Given the description of an element on the screen output the (x, y) to click on. 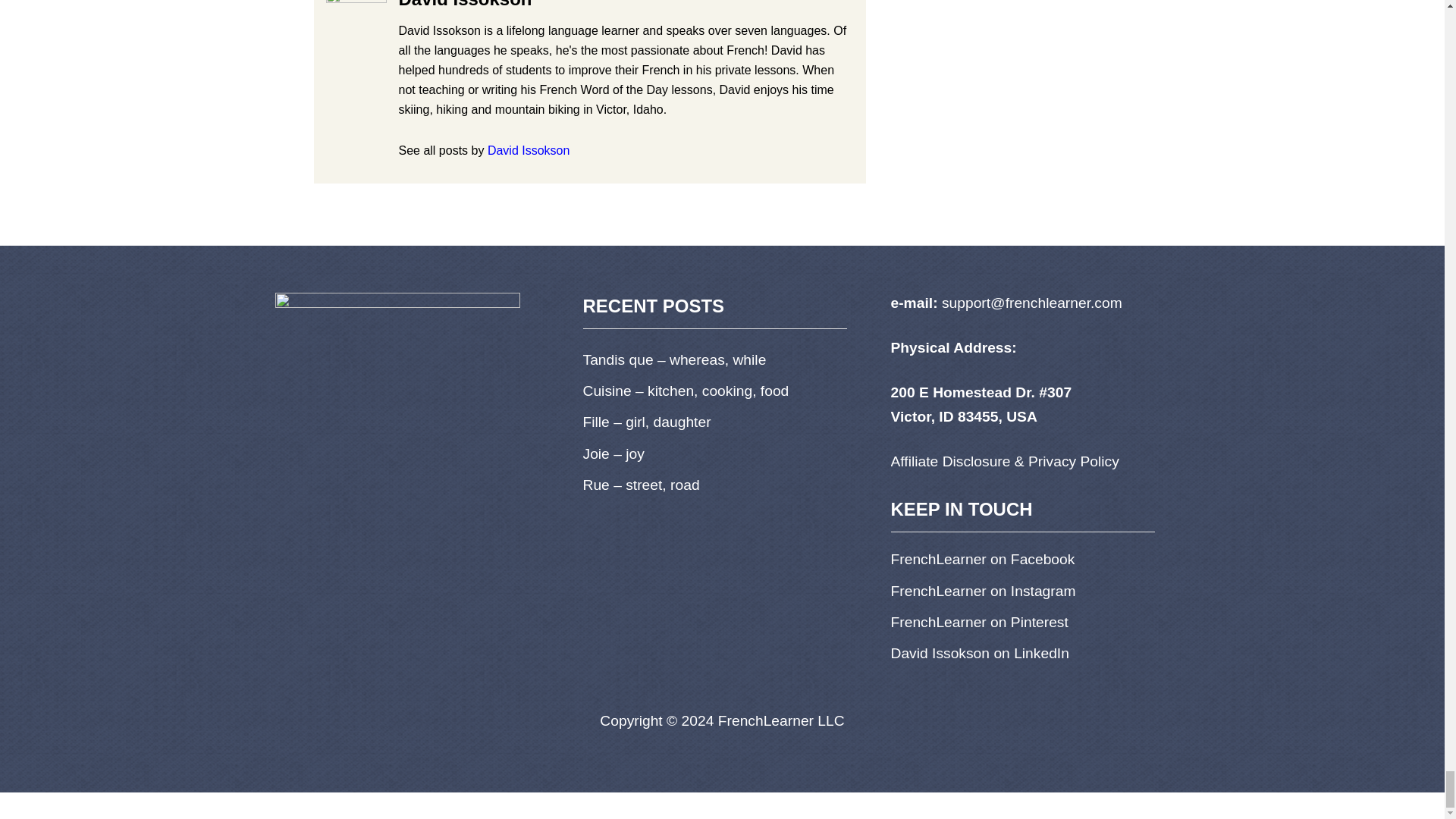
David Issokson (528, 150)
